Given the description of an element on the screen output the (x, y) to click on. 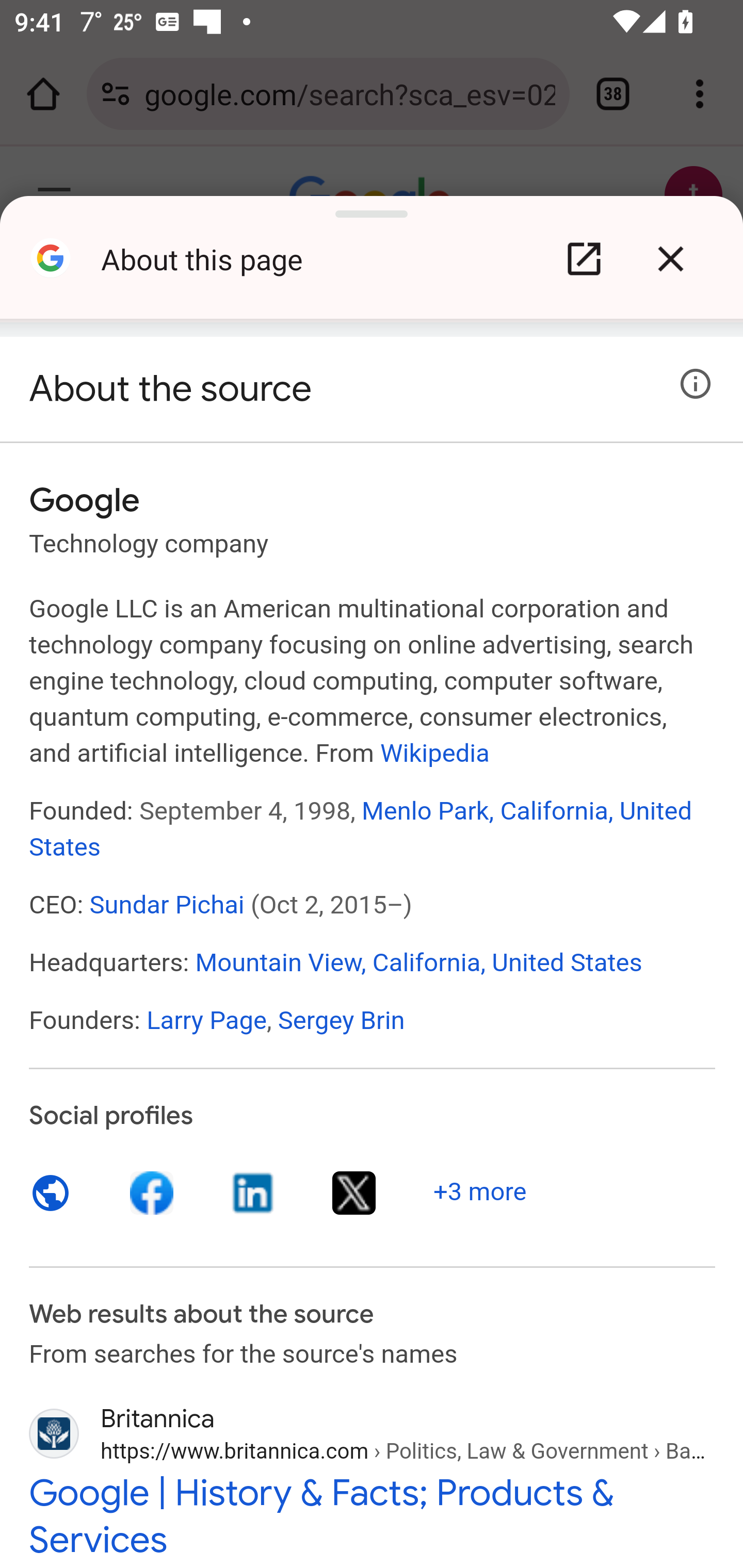
About this page Open in new tab Close (371, 266)
Open in new tab (583, 259)
Close (670, 259)
Support about the source (695, 384)
Wikipedia (434, 752)
Menlo Park, California, United States (360, 828)
Sundar Pichai (166, 904)
Mountain View, California, United States (418, 961)
Larry Page (206, 1019)
Sergey Brin (341, 1019)
Official site, Google (51, 1193)
facebook.com, Google (152, 1193)
linkedin.com, Google (252, 1193)
twitter.com, Google (354, 1193)
+3 more (480, 1191)
